Given the description of an element on the screen output the (x, y) to click on. 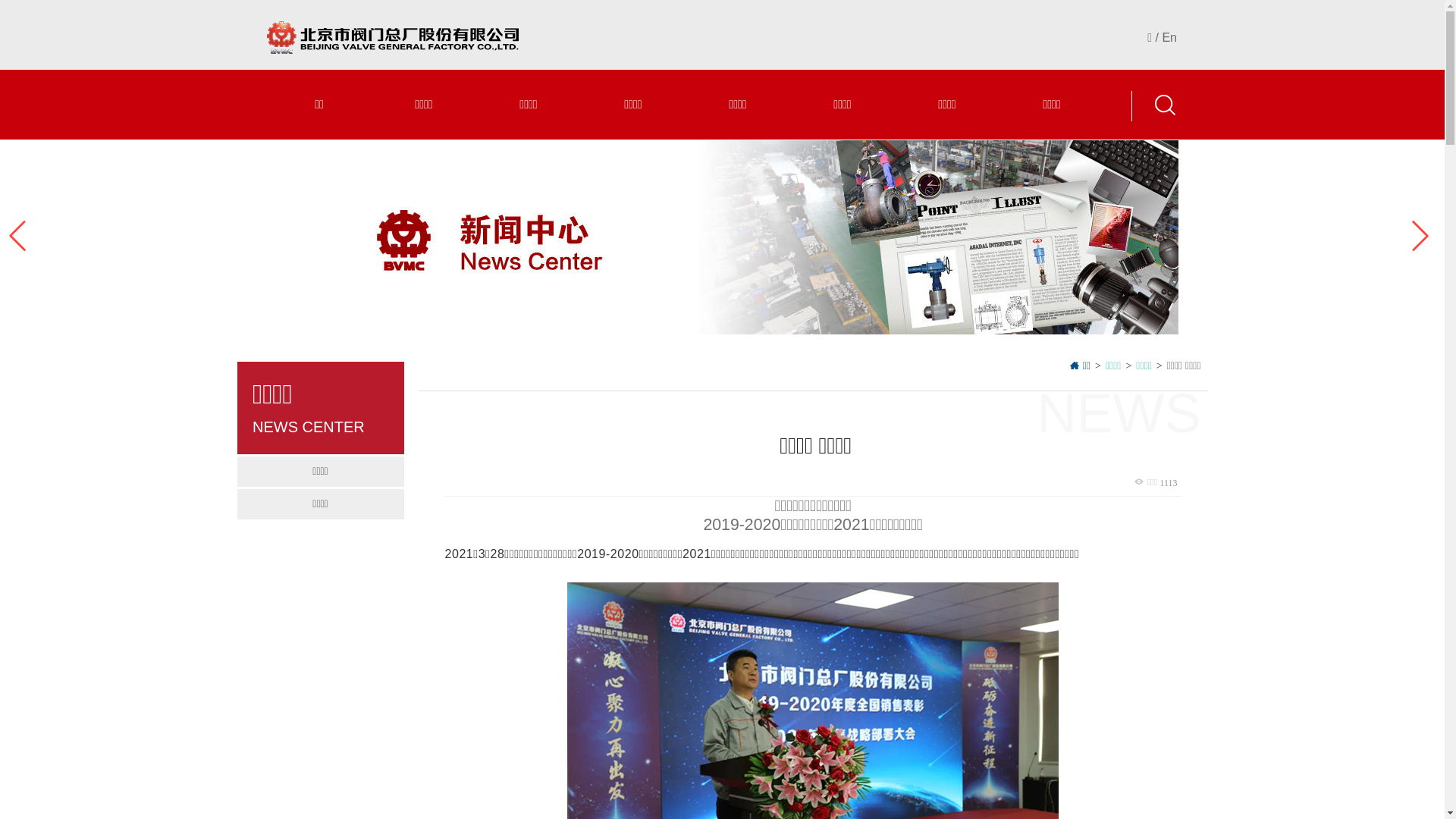
En Element type: text (1168, 37)
